Given the description of an element on the screen output the (x, y) to click on. 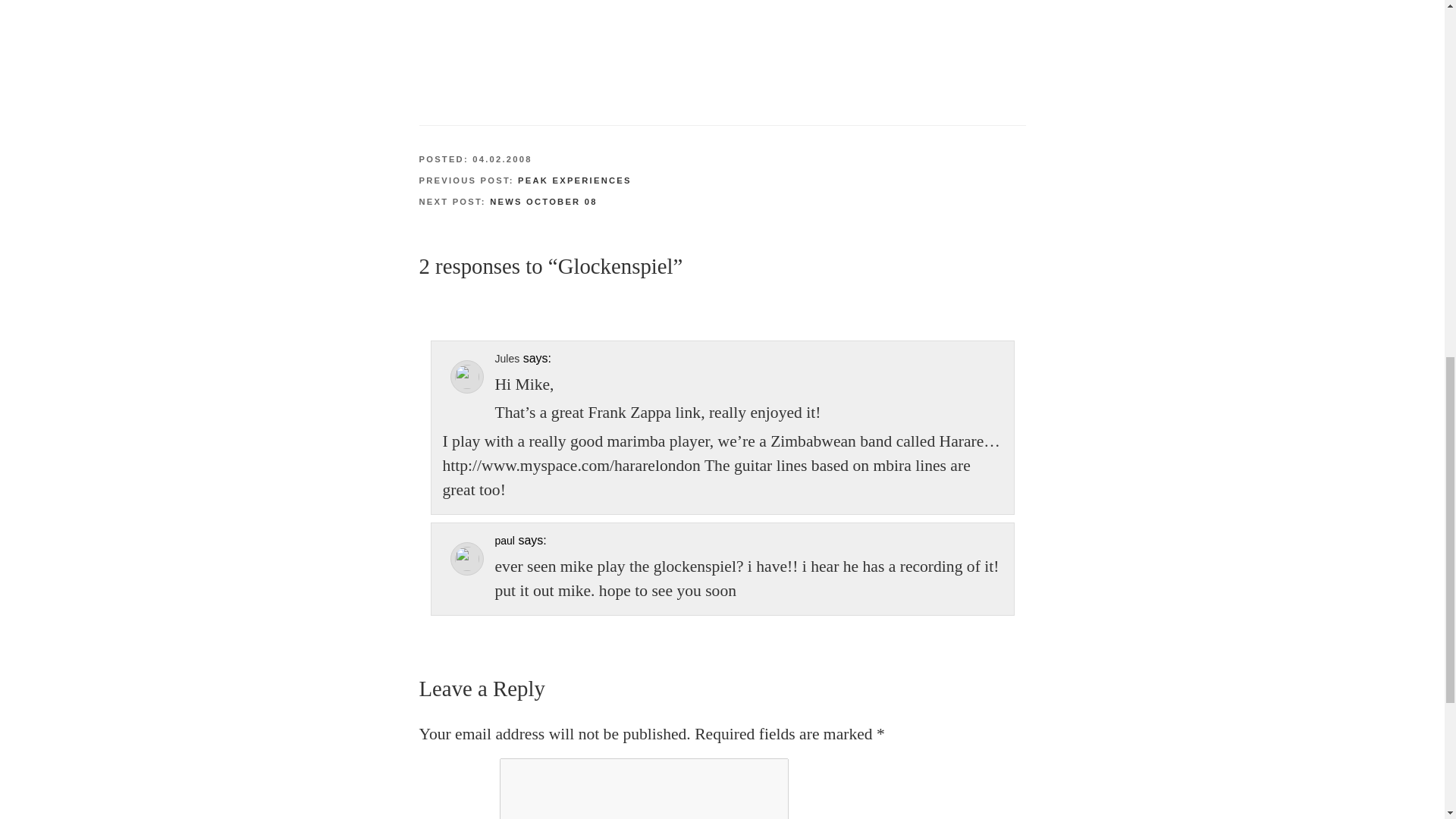
Jules (507, 358)
PEAK EXPERIENCES (574, 180)
NEWS OCTOBER 08 (542, 201)
